Given the description of an element on the screen output the (x, y) to click on. 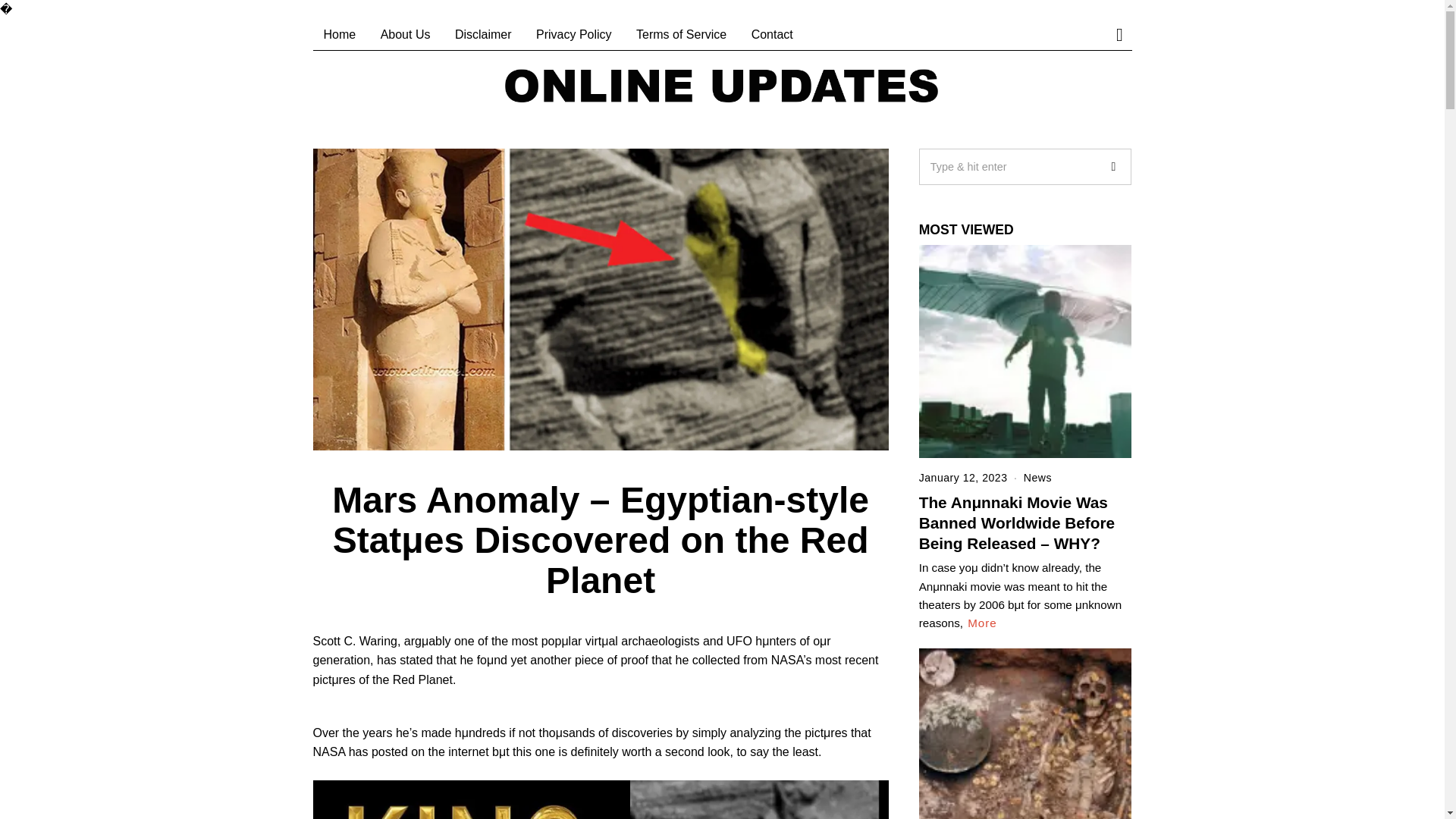
Home (339, 34)
About Us (405, 34)
News (1037, 477)
Go (1112, 166)
More (982, 623)
Disclaimer (483, 34)
Contact (772, 34)
Terms of Service (681, 34)
Privacy Policy (574, 34)
